Given the description of an element on the screen output the (x, y) to click on. 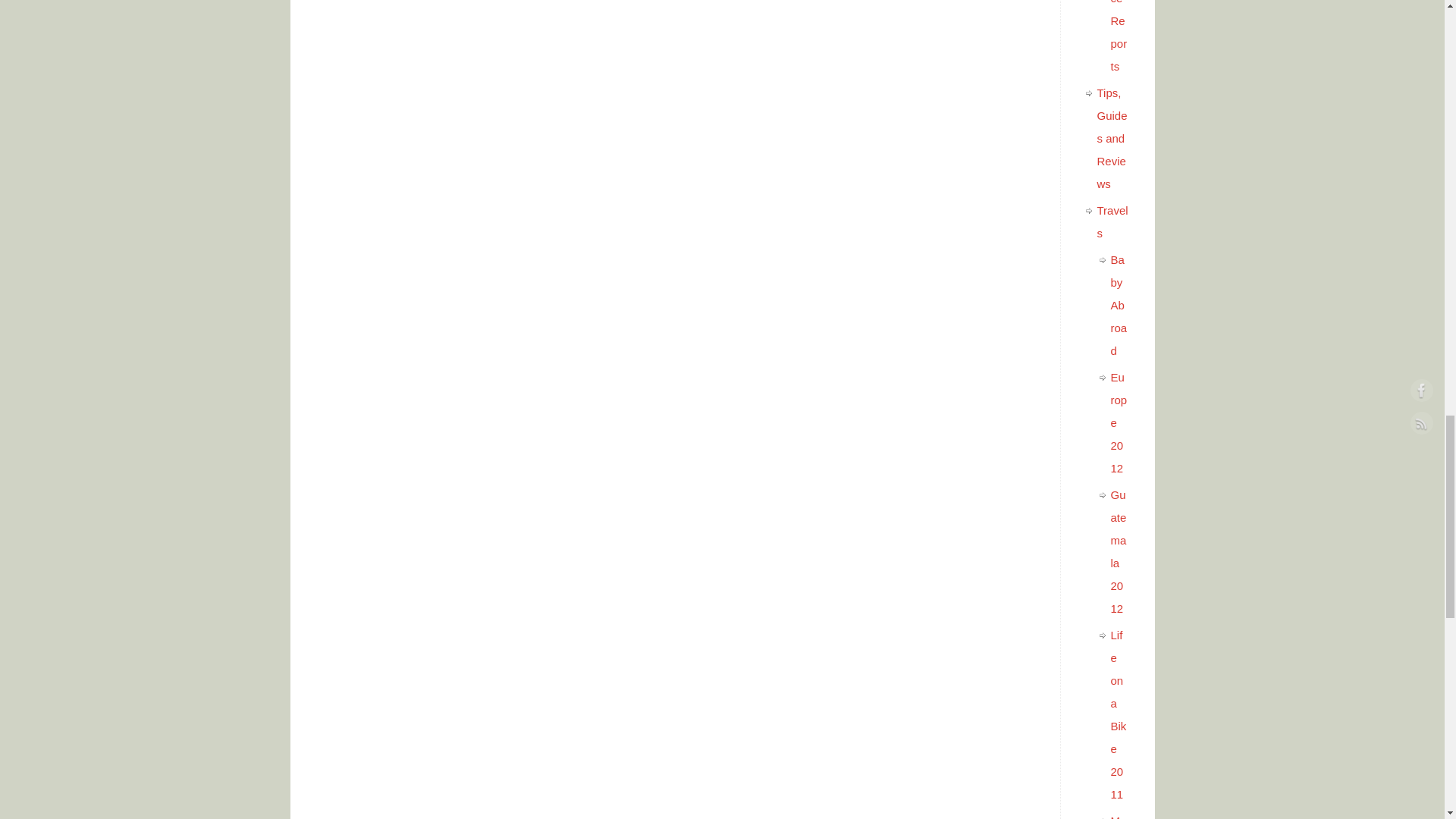
Mexico 2011 (1117, 816)
